Given the description of an element on the screen output the (x, y) to click on. 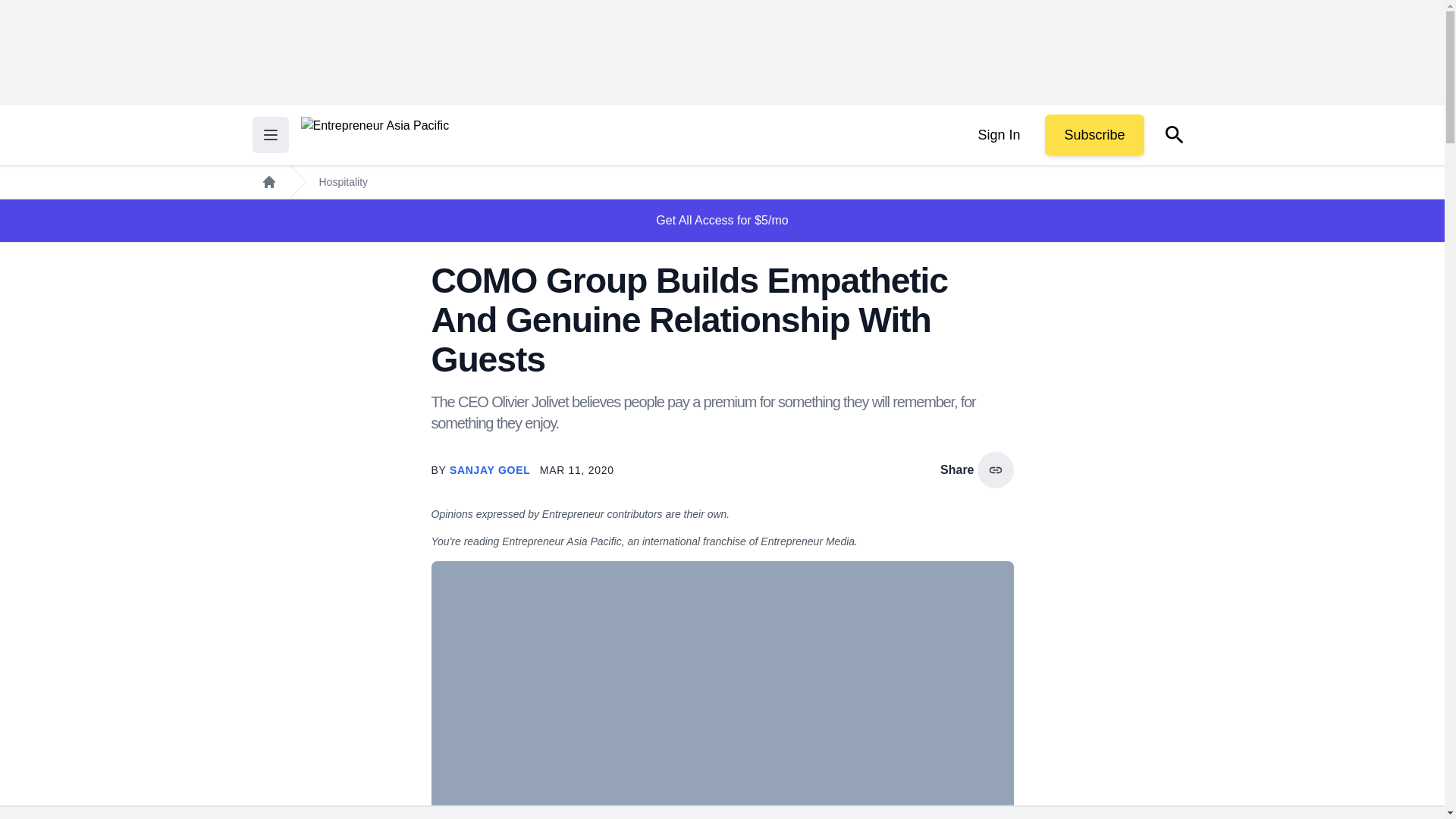
Sign In (998, 134)
copy (994, 470)
Return to the home page (373, 135)
Subscribe (1093, 134)
